Given the description of an element on the screen output the (x, y) to click on. 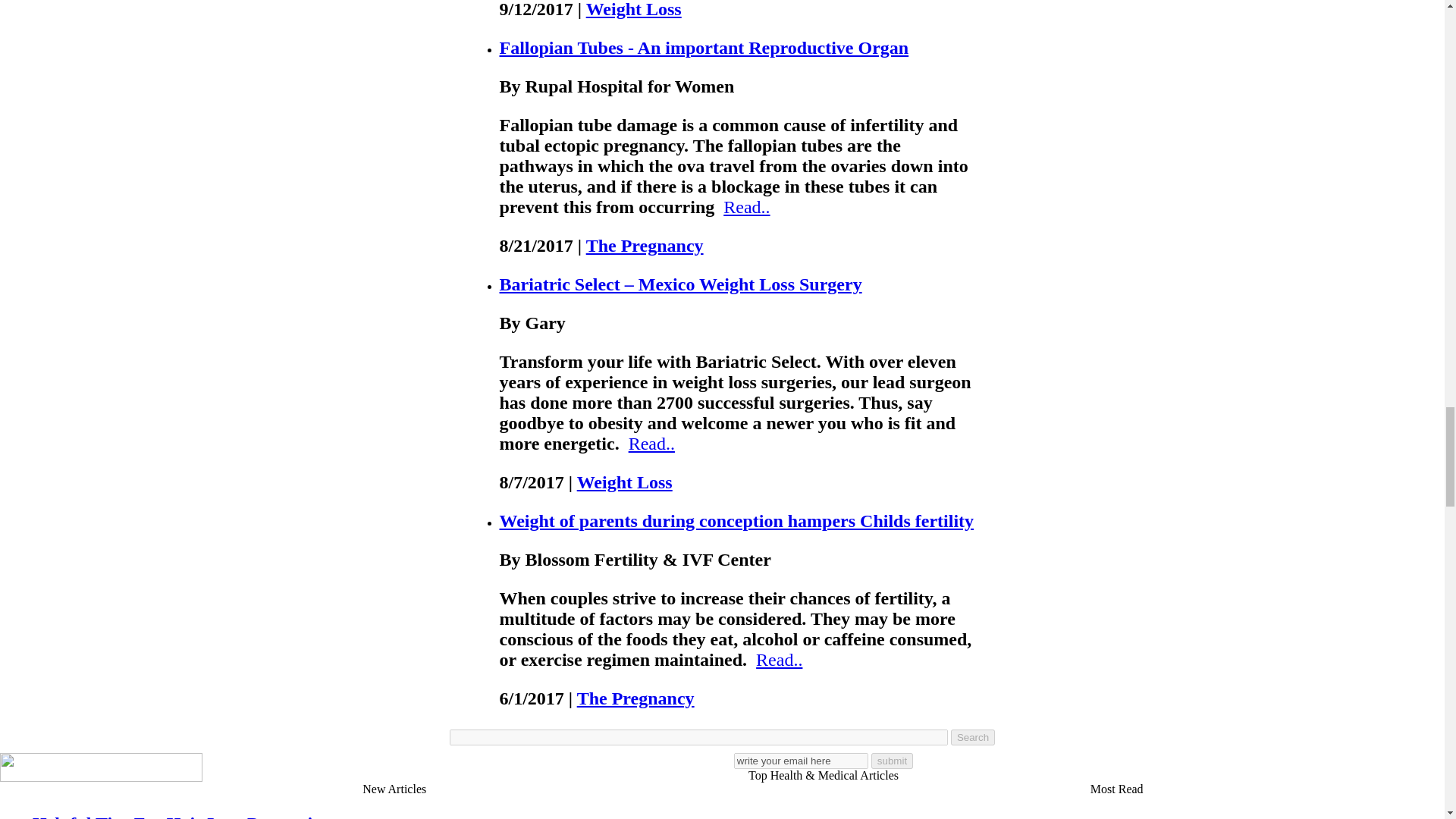
Search (972, 737)
write your email here (800, 760)
submit (891, 760)
